Given the description of an element on the screen output the (x, y) to click on. 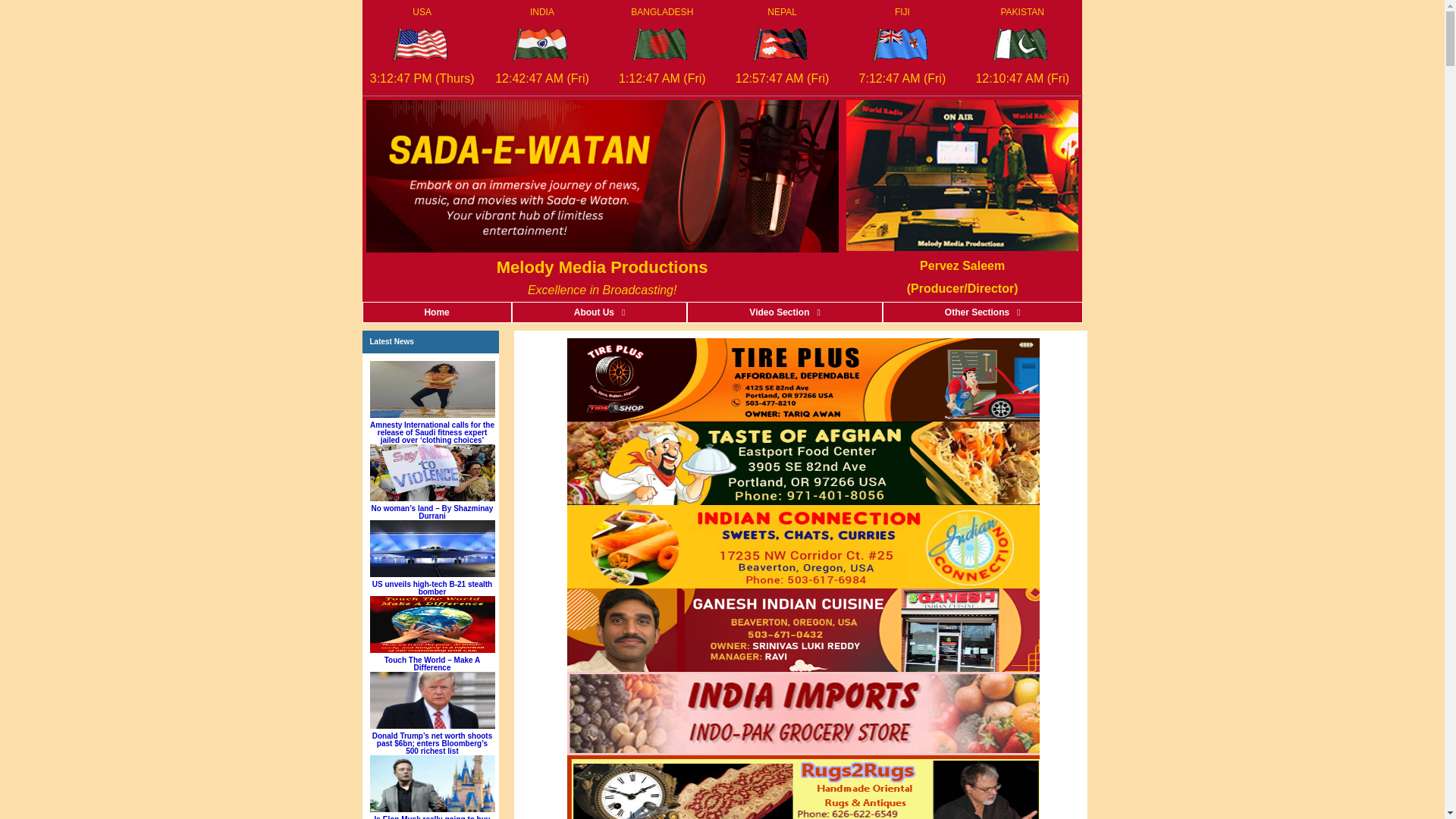
Home (436, 312)
Video Section (783, 312)
Other Sections (982, 312)
About Us (599, 312)
